Given the description of an element on the screen output the (x, y) to click on. 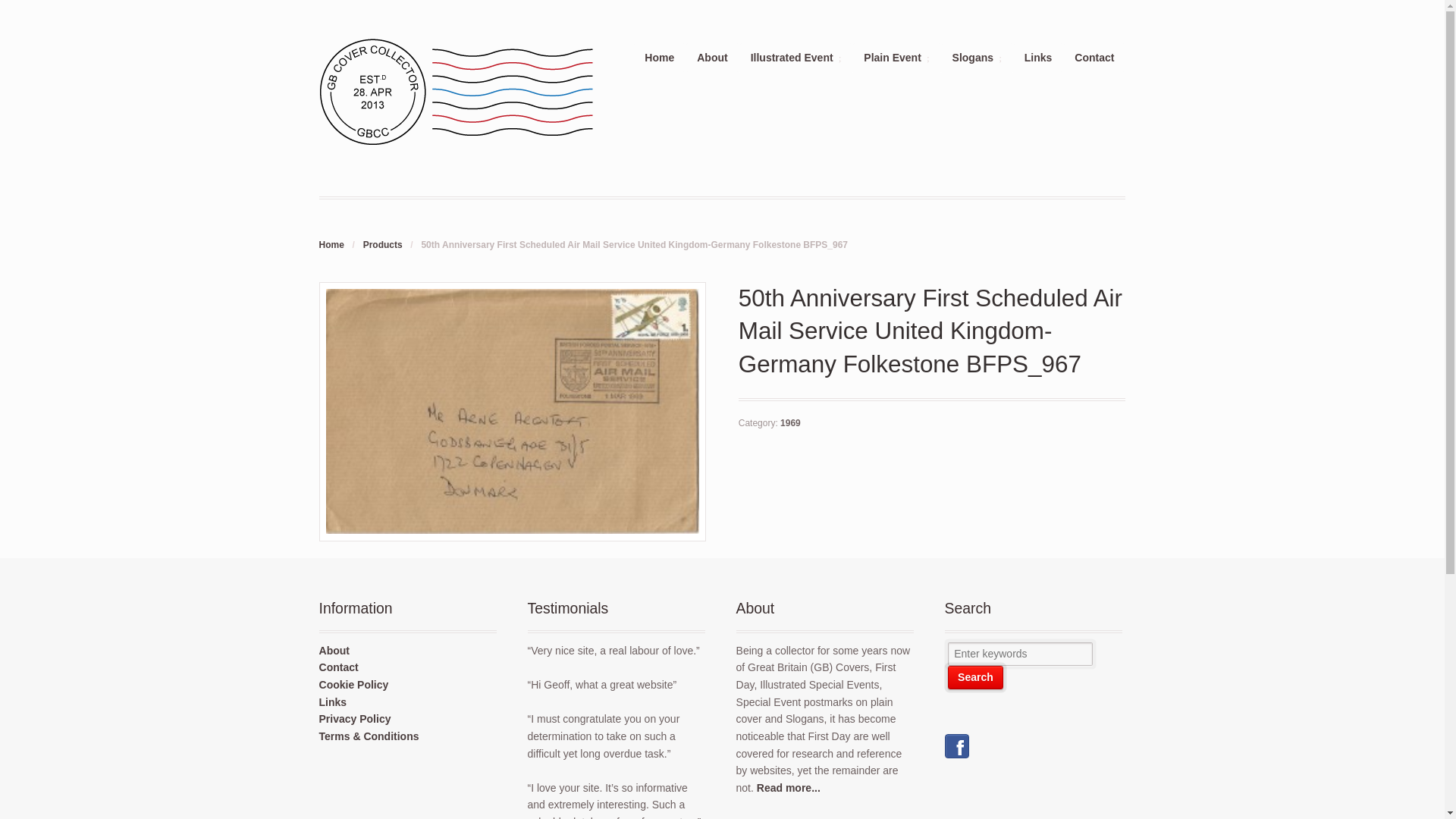
Home (659, 57)
Products (382, 244)
Search (975, 677)
GB Cover Collector (330, 244)
About (711, 57)
Illustrated Event (796, 57)
find us on Facebook (956, 749)
